Given the description of an element on the screen output the (x, y) to click on. 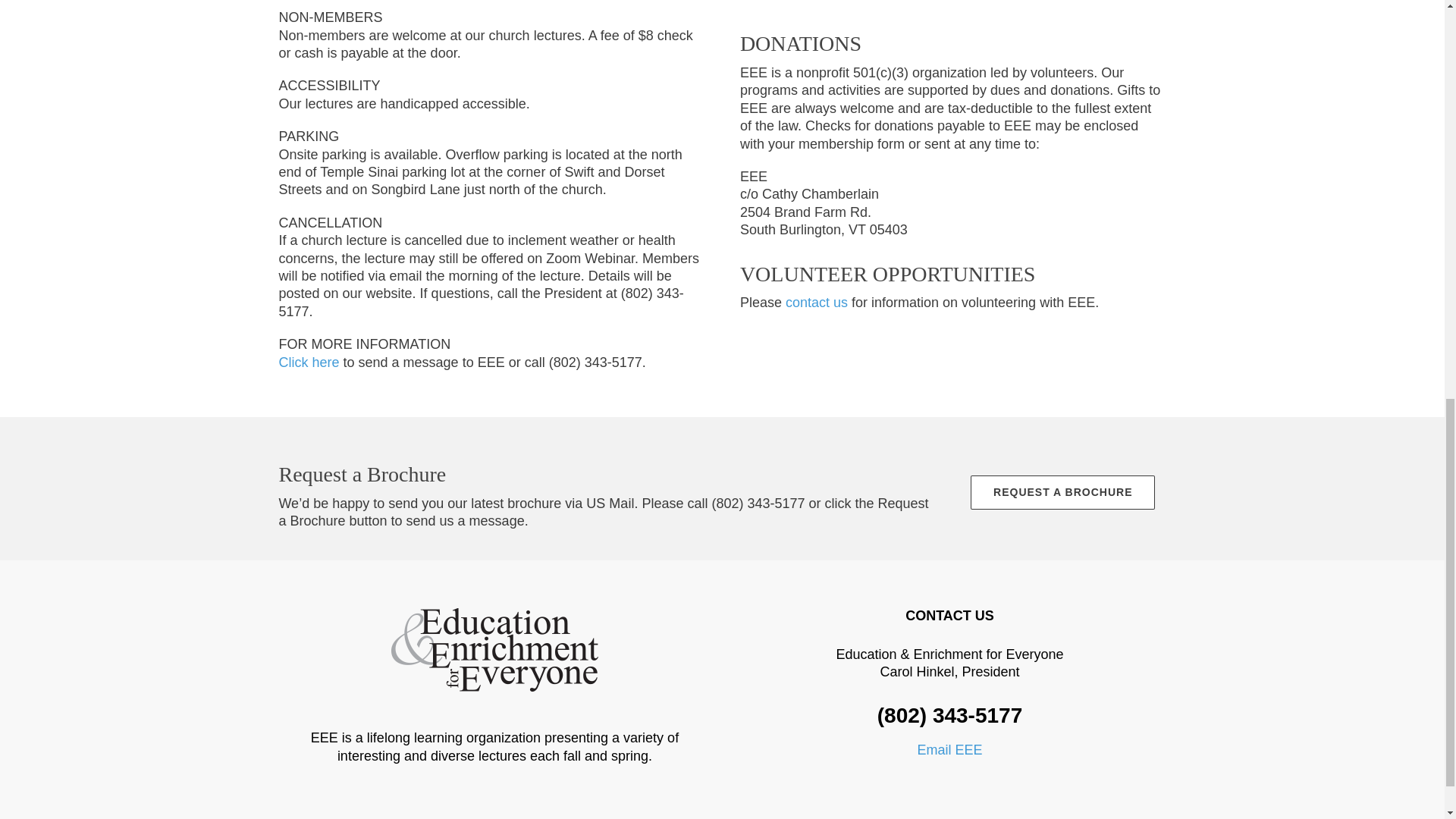
contact us (816, 302)
Click here (309, 362)
Email EEE (949, 749)
REQUEST A BROCHURE (1062, 492)
